Given the description of an element on the screen output the (x, y) to click on. 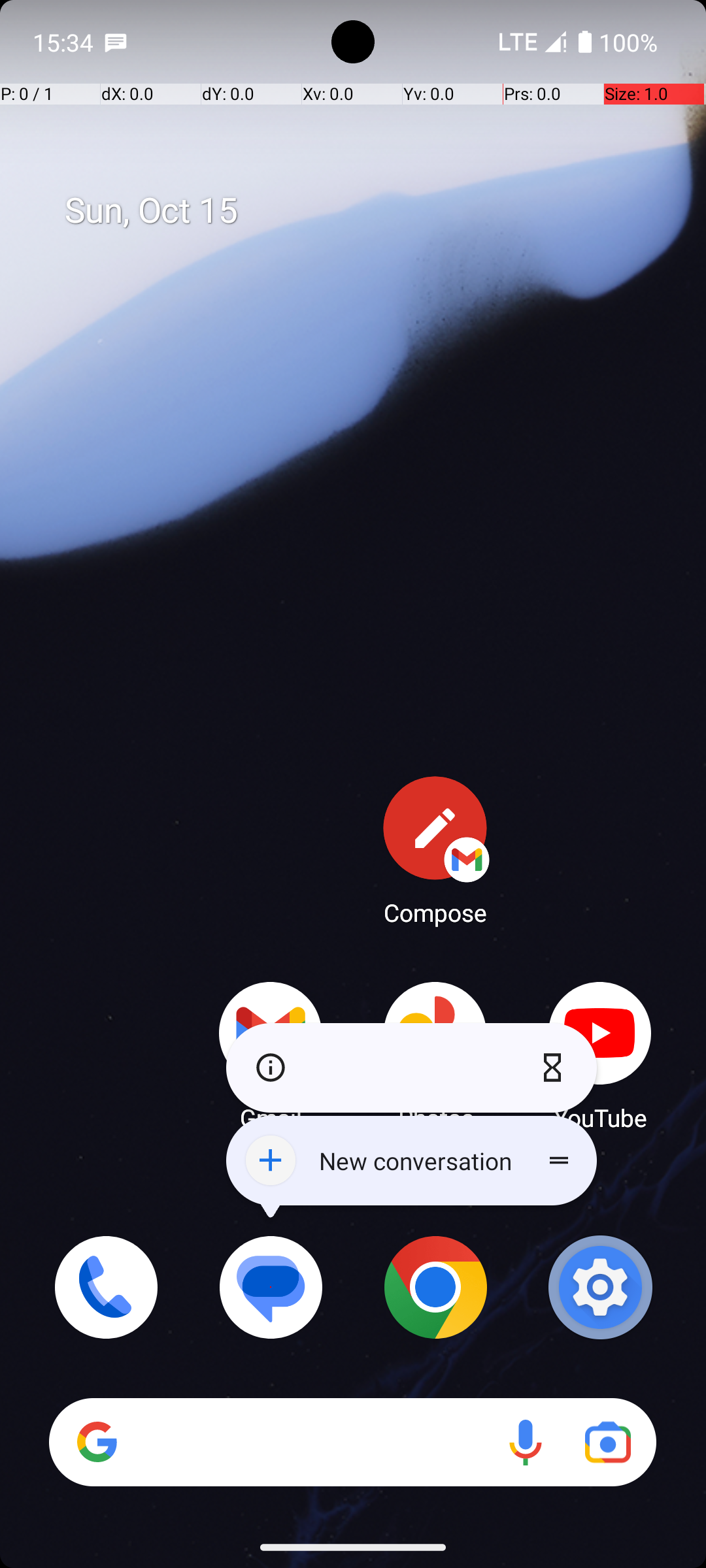
Pause app Element type: android.widget.ImageView (555, 1067)
